Given the description of an element on the screen output the (x, y) to click on. 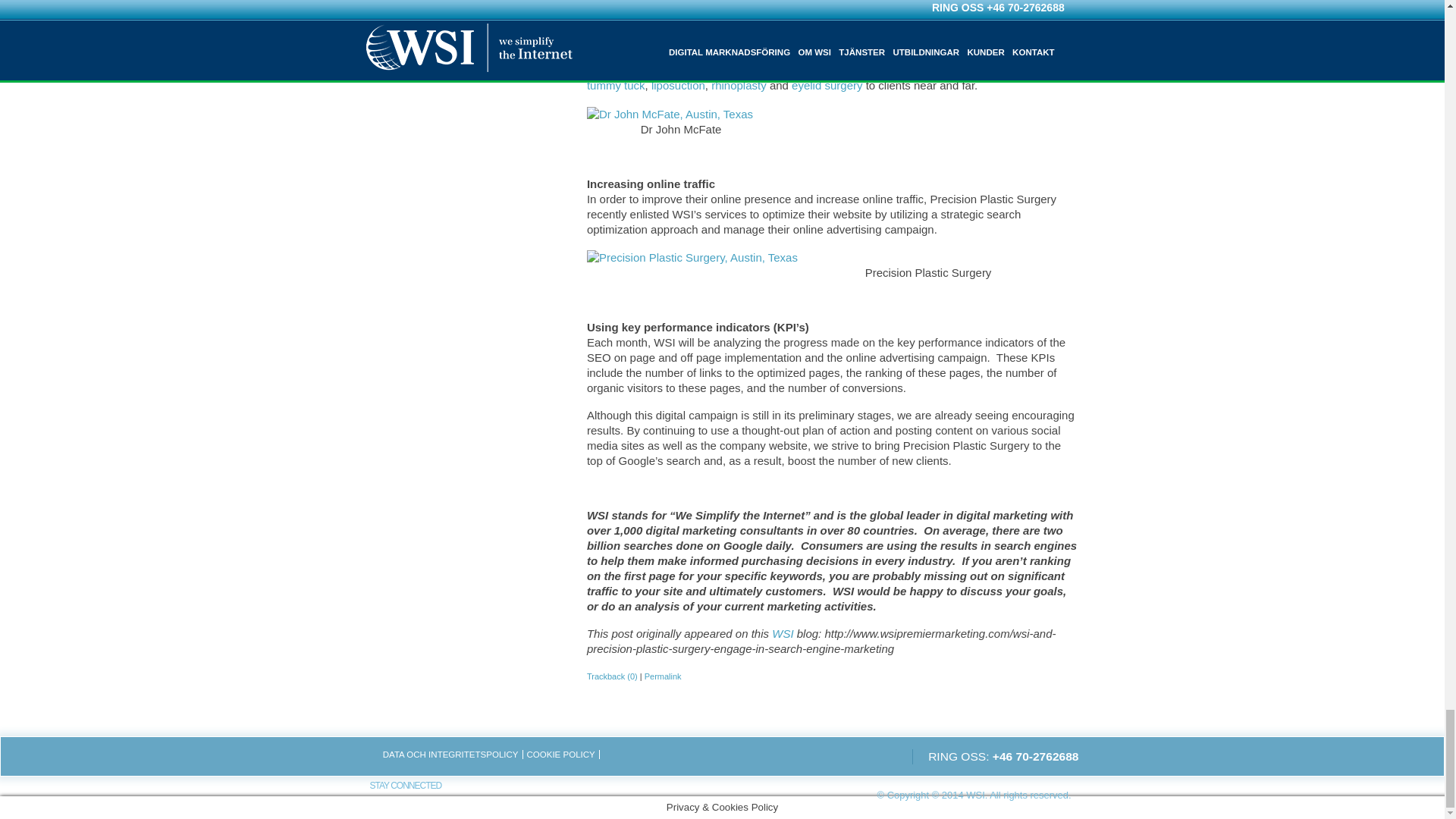
WSI Premier Marketing (782, 633)
Precision Surgery Clinic, Austin, Texas (691, 256)
